Given the description of an element on the screen output the (x, y) to click on. 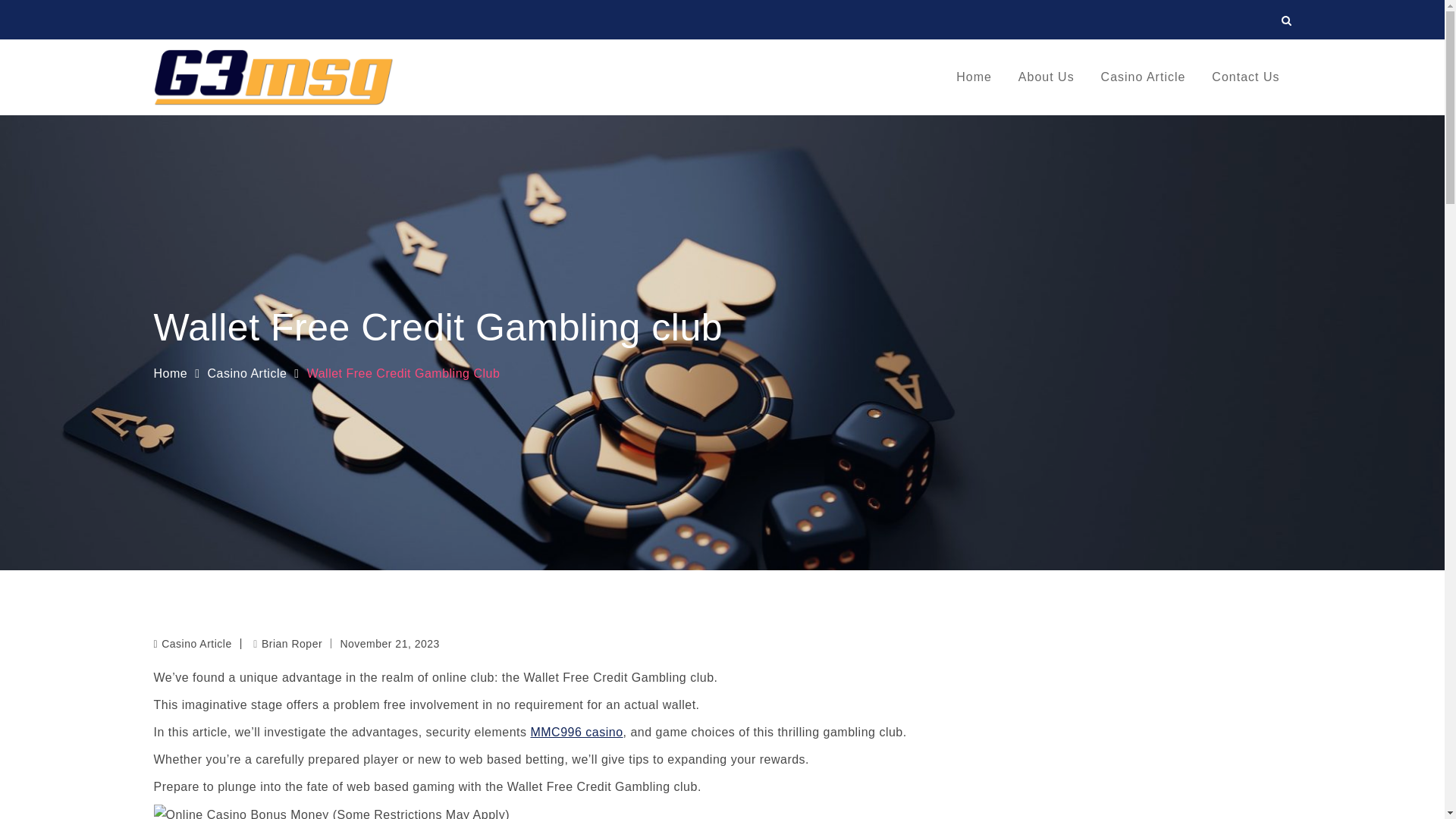
Casino Article (247, 373)
Contact Us (1244, 77)
g3msg.com (443, 91)
Casino Article (1142, 77)
Casino Article (196, 644)
Home (169, 373)
MMC996 casino (576, 731)
About Us (1046, 77)
Brian Roper (287, 644)
November 21, 2023 (389, 643)
